Given the description of an element on the screen output the (x, y) to click on. 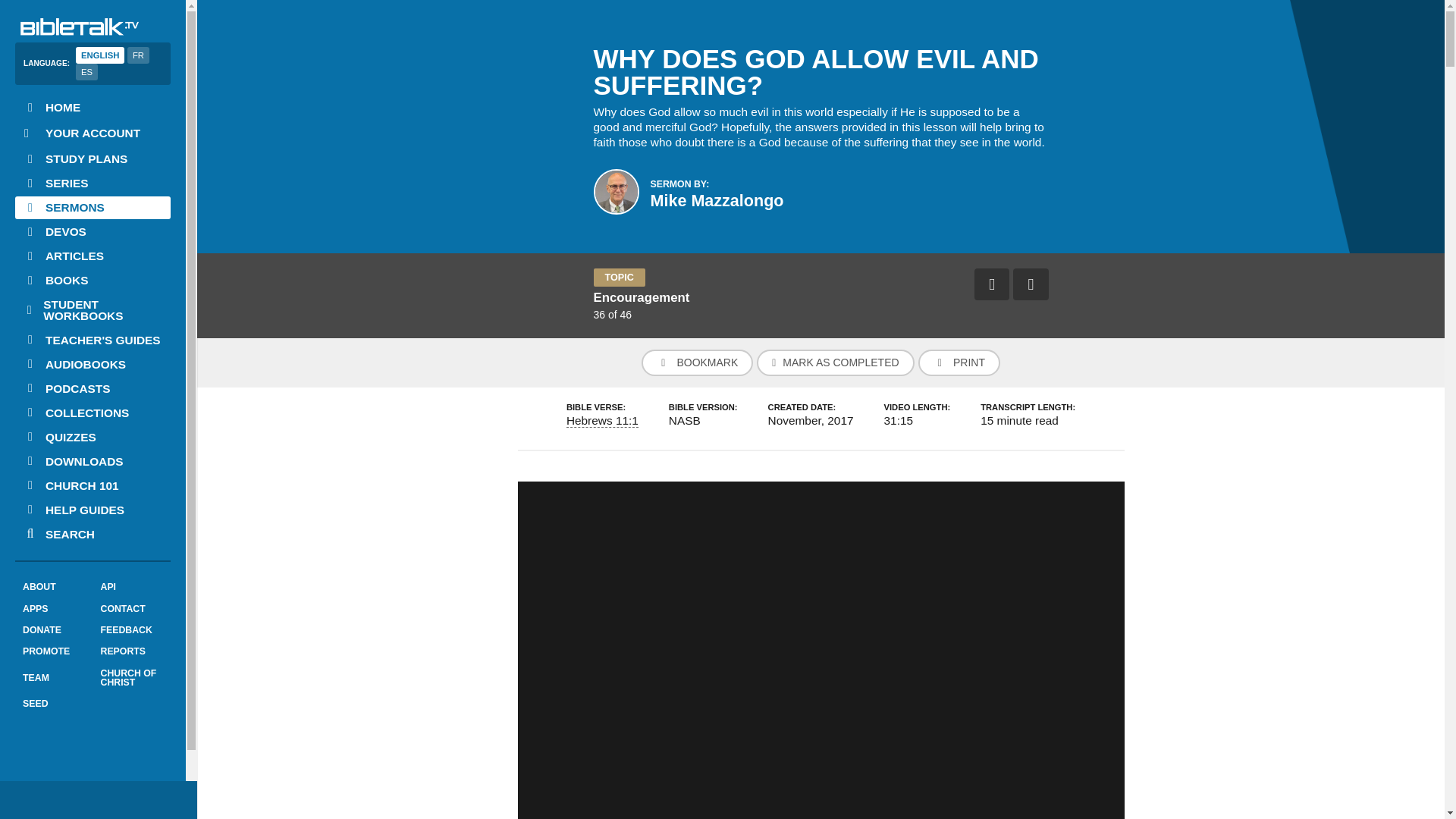
PODCASTS (92, 387)
SEARCH (92, 533)
SERMONS (92, 207)
HOME (92, 107)
ENGLISH (99, 54)
Mike Mazzalongo (717, 199)
APPS (53, 608)
BOOKS (92, 280)
Encouragement (640, 297)
TEAM (53, 677)
